Given the description of an element on the screen output the (x, y) to click on. 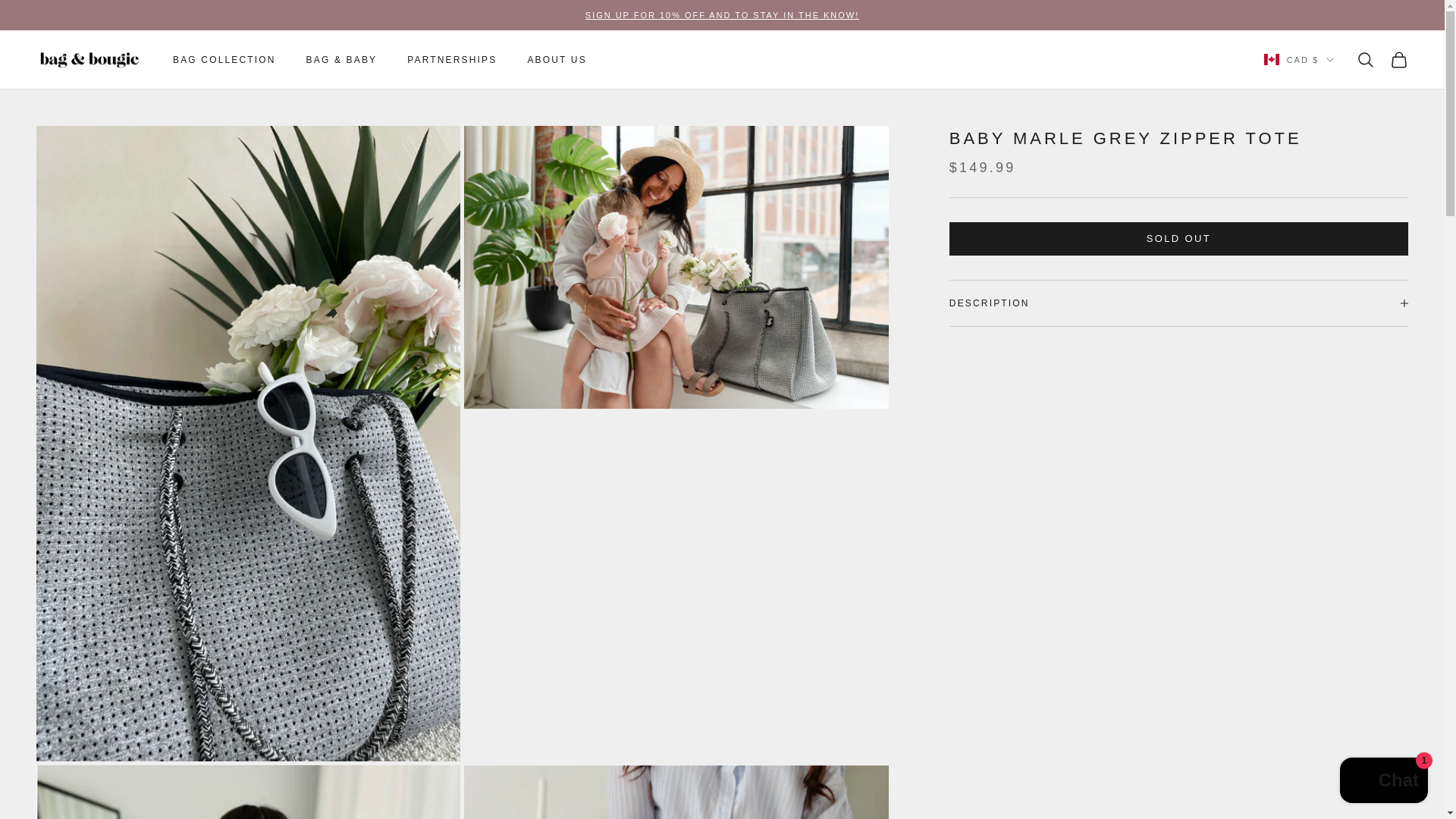
PARTNERSHIPS (451, 59)
ABOUT US (556, 59)
Lets Be Friends (722, 14)
Shopify online store chat (1383, 781)
